Given the description of an element on the screen output the (x, y) to click on. 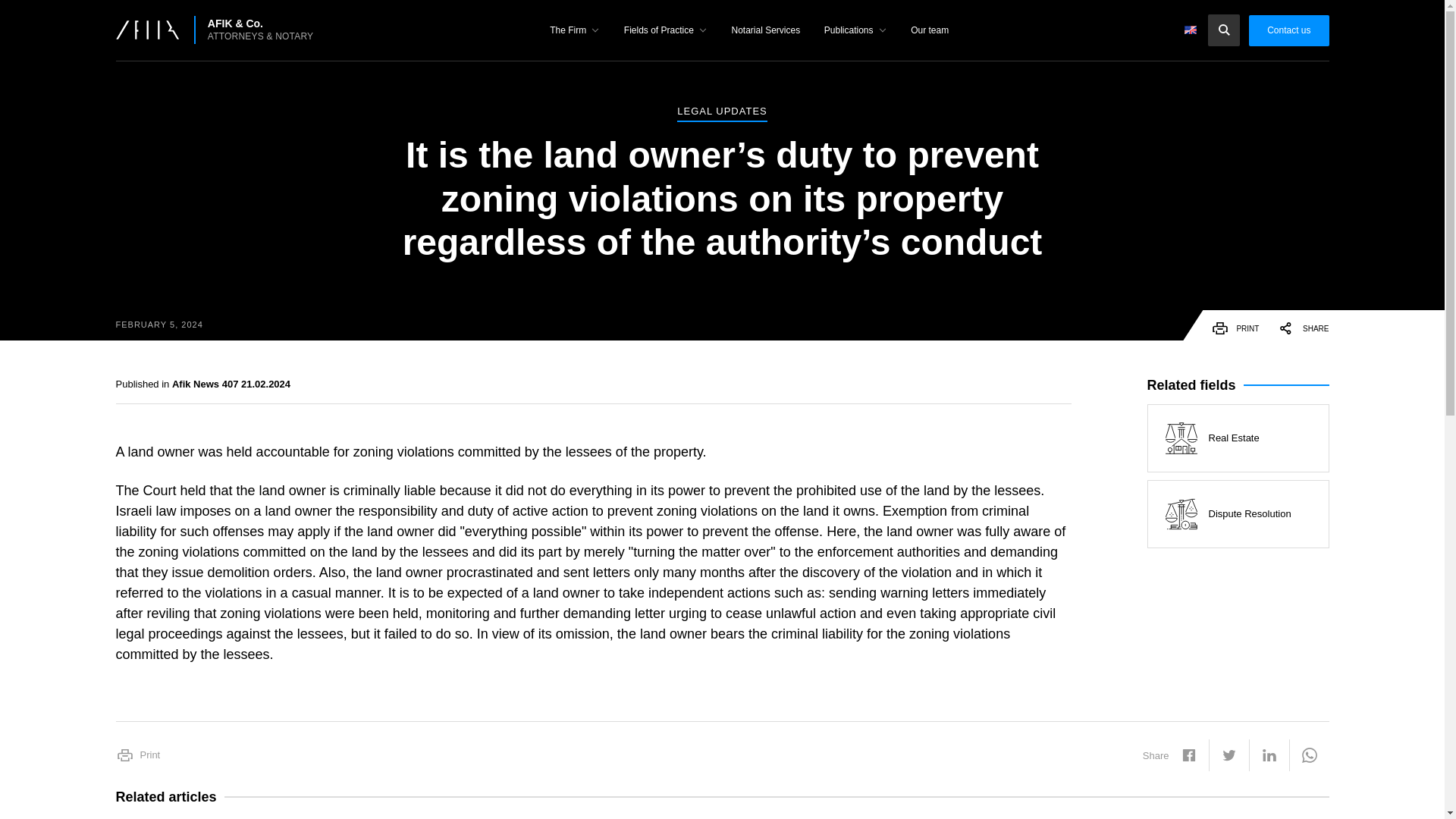
Contact us (1288, 30)
LEGAL UPDATES (722, 114)
The Firm (574, 33)
Notarial Services (765, 33)
Fields of Practice (664, 33)
Publications (855, 33)
